Given the description of an element on the screen output the (x, y) to click on. 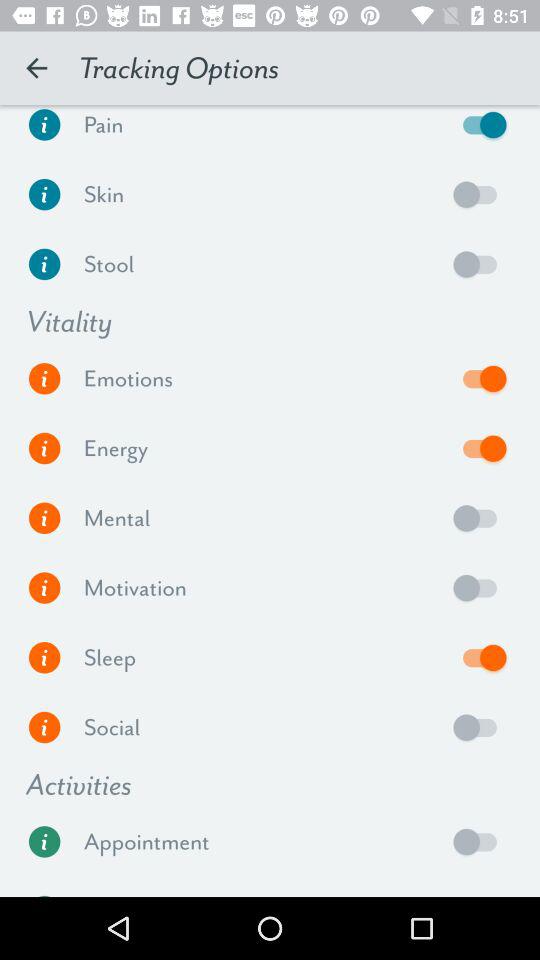
toggle emotions (479, 378)
